Given the description of an element on the screen output the (x, y) to click on. 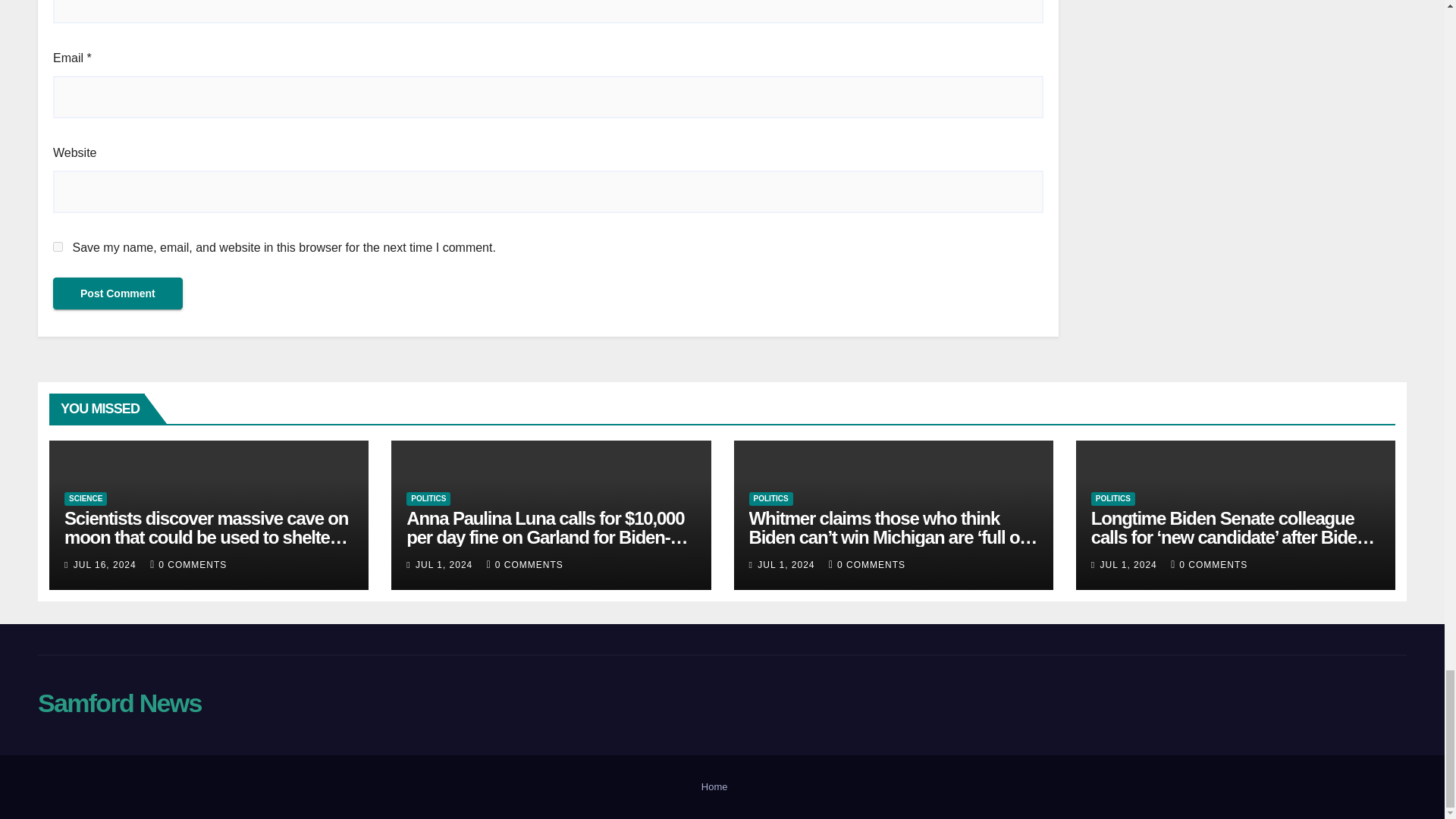
yes (57, 246)
Post Comment (117, 293)
Post Comment (117, 293)
